Given the description of an element on the screen output the (x, y) to click on. 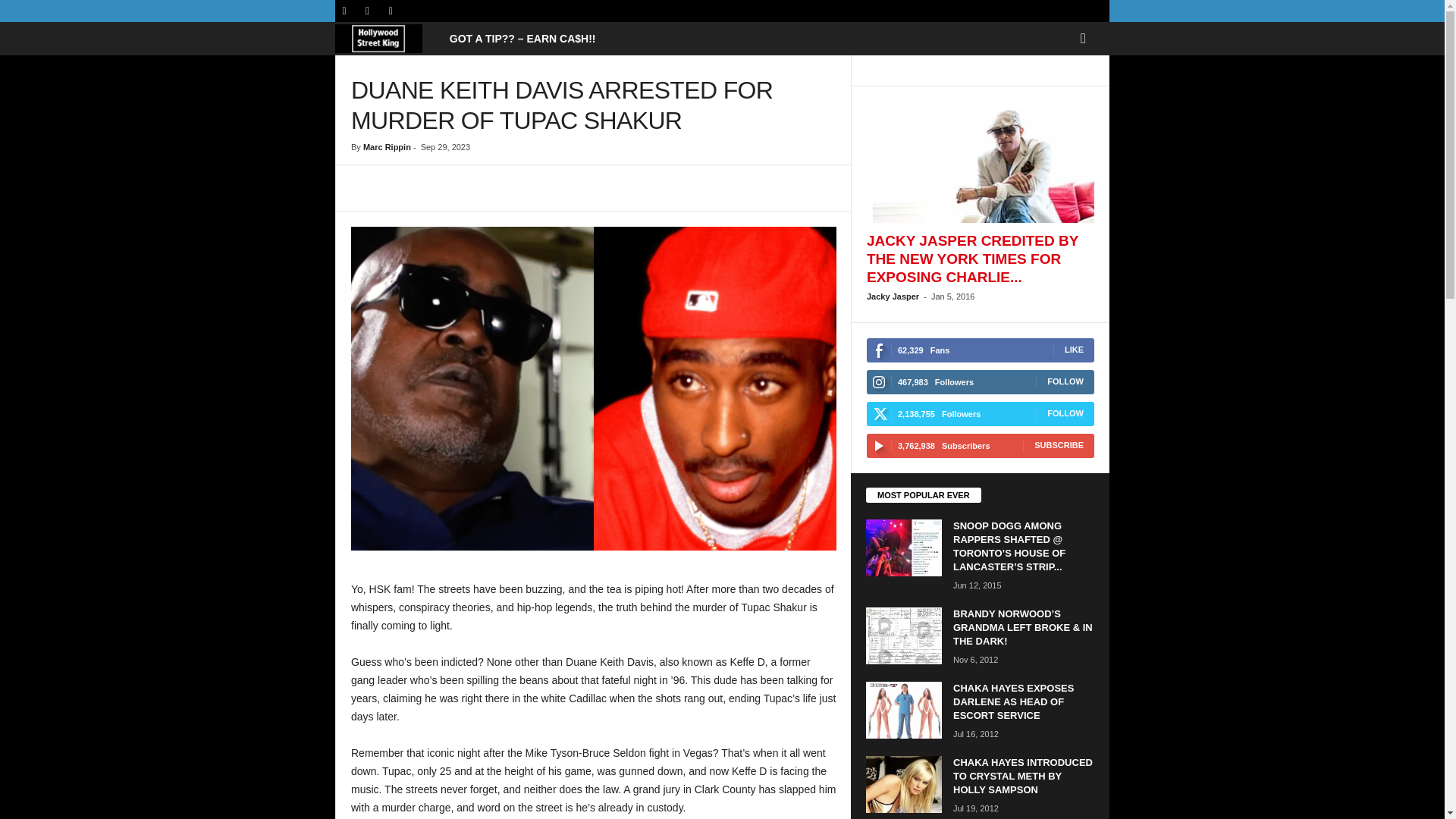
CONTACT HSK (522, 38)
Marc Rippin (386, 146)
